Given the description of an element on the screen output the (x, y) to click on. 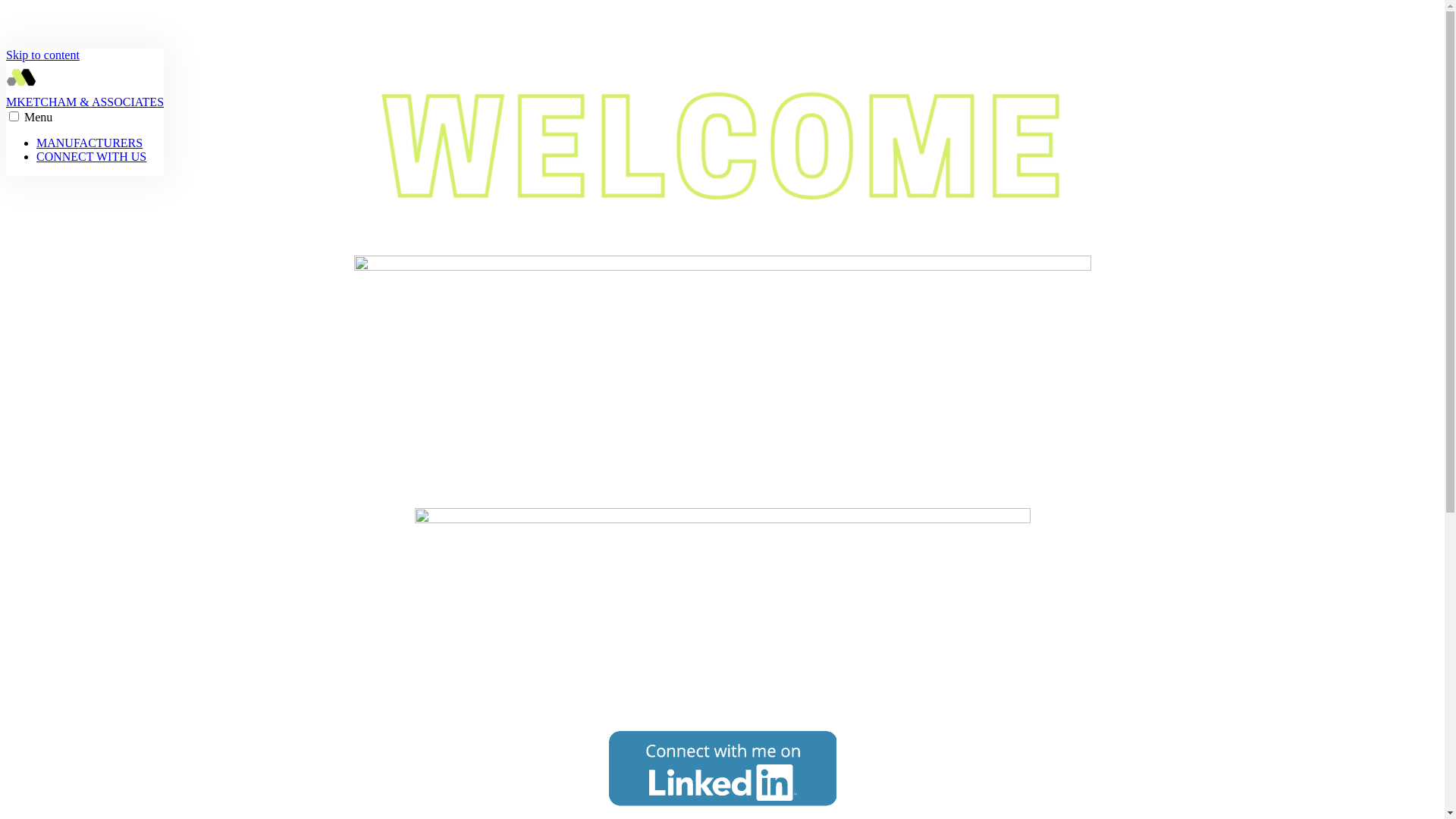
CONNECT WITH US Element type: text (91, 156)
MANUFACTURERS Element type: text (89, 142)
Skip to content Element type: text (42, 54)
MKETCHAM & ASSOCIATES Element type: text (84, 102)
